Given the description of an element on the screen output the (x, y) to click on. 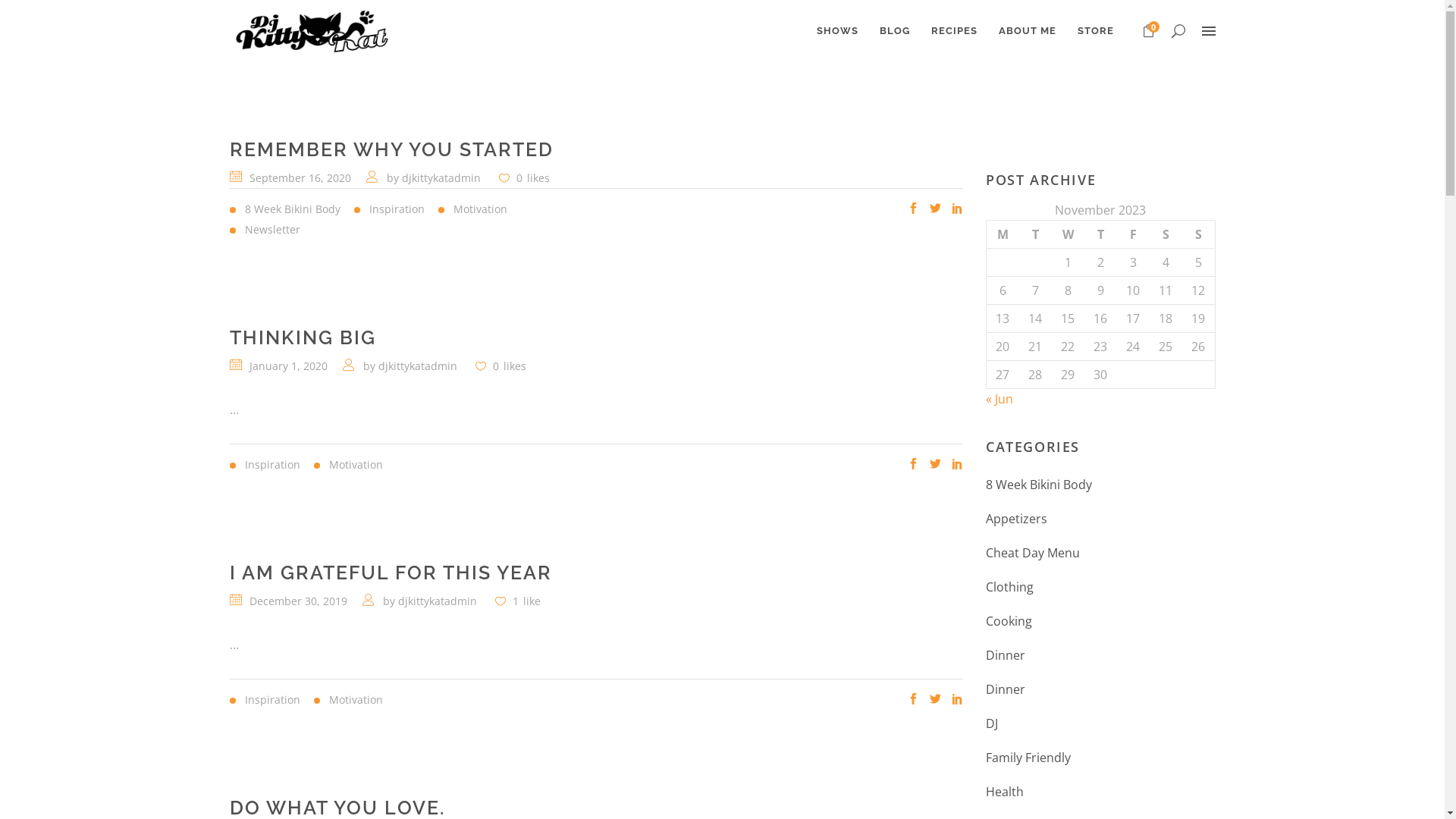
Cooking Element type: text (1008, 621)
0likes Element type: text (523, 177)
THINKING BIG Element type: text (302, 337)
RECIPES Element type: text (954, 31)
Inspiration Element type: text (271, 699)
Motivation Element type: text (354, 699)
SHOWS Element type: text (836, 31)
0likes Element type: text (499, 365)
8 Week Bikini Body Element type: text (291, 209)
ABOUT ME Element type: text (1026, 31)
STORE Element type: text (1094, 31)
DJ Element type: text (991, 723)
djkittykatadmin Element type: text (436, 600)
Appetizers Element type: text (1016, 519)
Motivation Element type: text (354, 464)
1like Element type: text (516, 600)
djkittykatadmin Element type: text (416, 365)
0 Element type: text (1148, 31)
Clothing Element type: text (1009, 587)
djkittykatadmin Element type: text (440, 177)
Dinner Element type: text (1005, 689)
REMEMBER WHY YOU STARTED Element type: text (390, 149)
Inspiration Element type: text (395, 209)
Dinner Element type: text (1005, 655)
BLOG Element type: text (894, 31)
Inspiration Element type: text (271, 464)
Health Element type: text (1004, 792)
I AM GRATEFUL FOR THIS YEAR Element type: text (390, 572)
8 Week Bikini Body Element type: text (1038, 484)
Cheat Day Menu Element type: text (1032, 553)
Family Friendly Element type: text (1027, 757)
Newsletter Element type: text (271, 229)
Motivation Element type: text (479, 209)
